Given the description of an element on the screen output the (x, y) to click on. 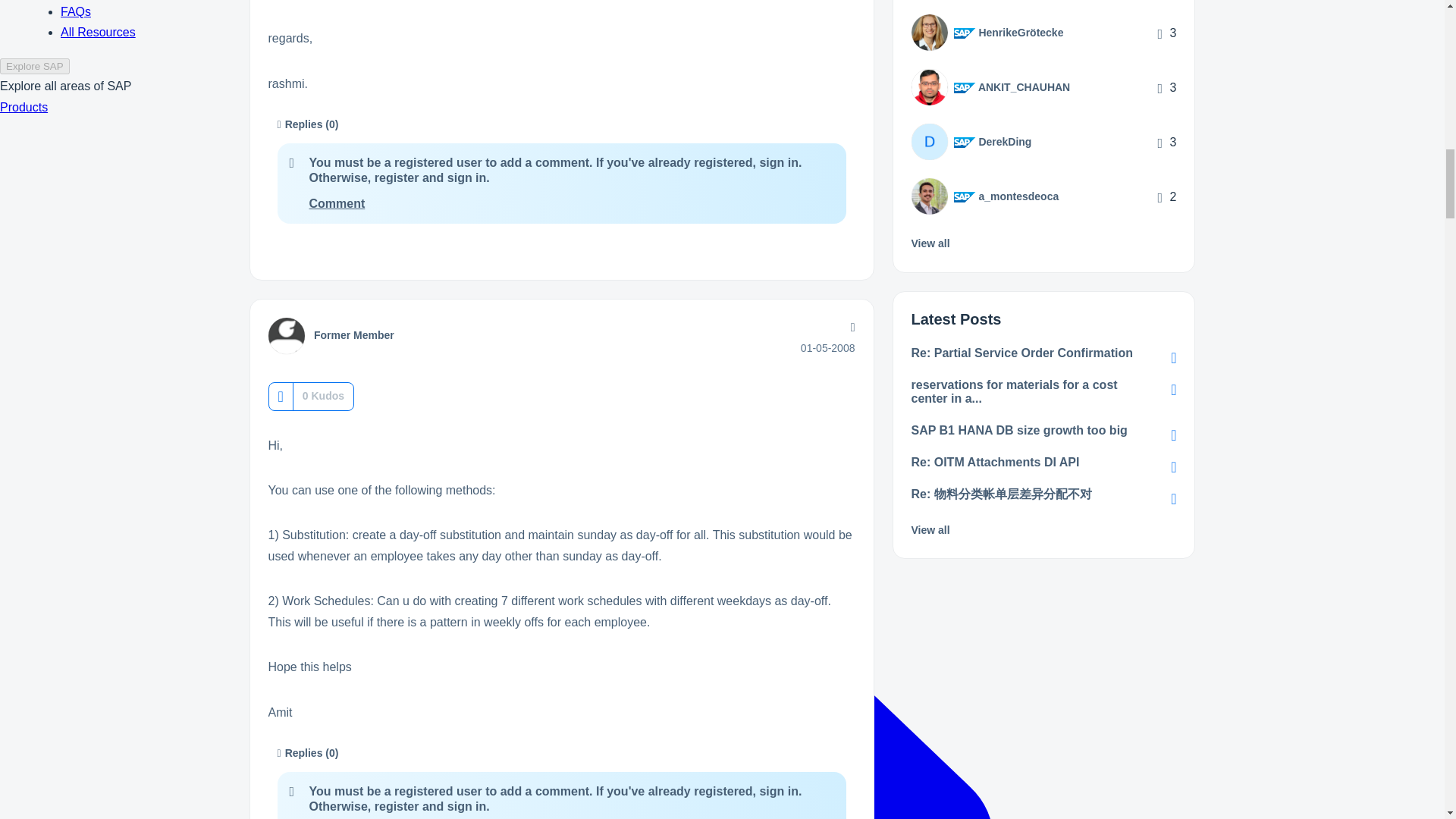
Comment (336, 203)
